Given the description of an element on the screen output the (x, y) to click on. 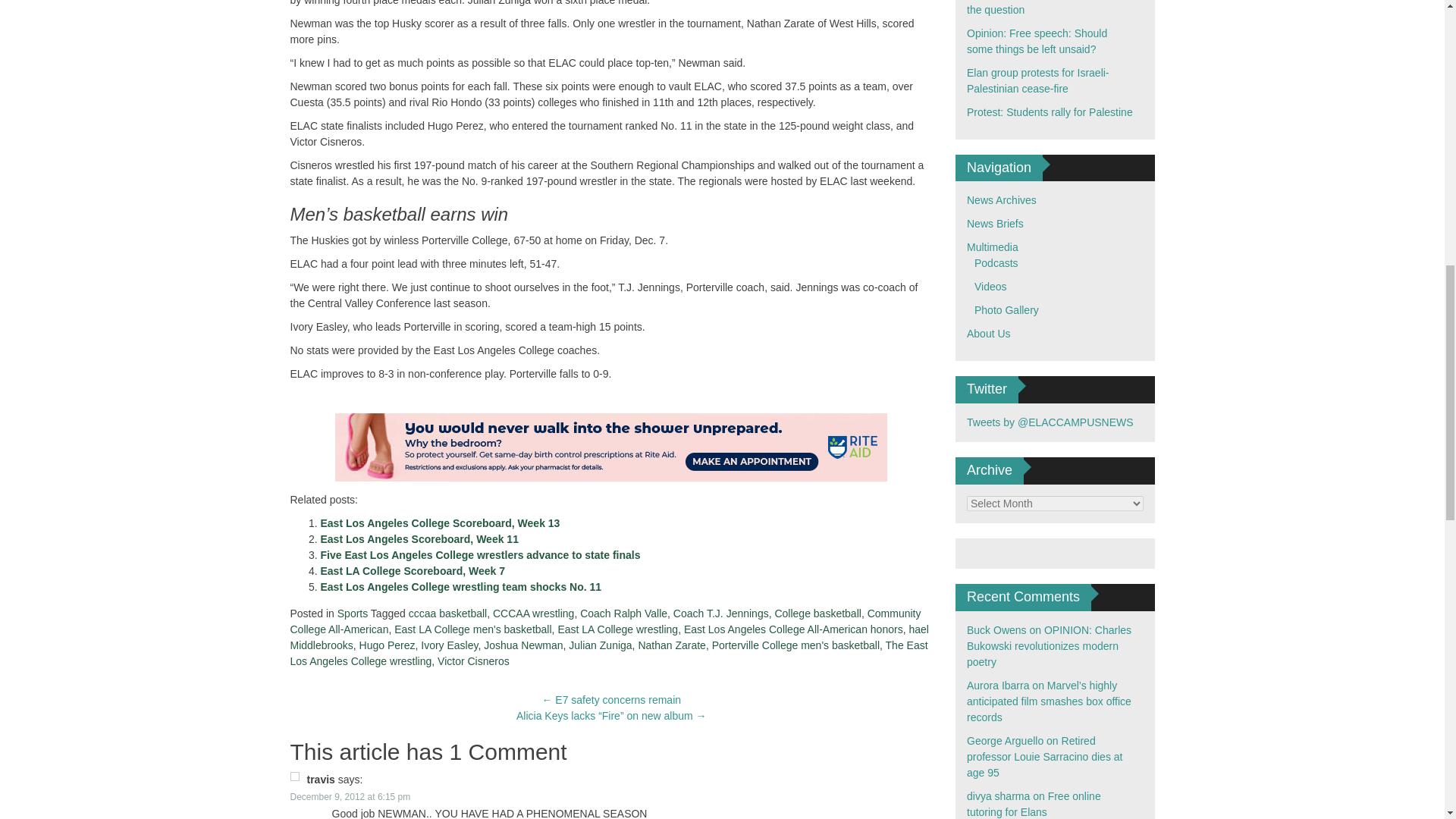
East Los Angeles College Scoreboard, Week 13 (439, 522)
CCCAA wrestling (533, 613)
Community College All-American (604, 621)
Coach Ralph Valle (622, 613)
East Los Angeles College Scoreboard, Week 13 (439, 522)
Sports (352, 613)
cccaa basketball (448, 613)
College basketball (817, 613)
Coach T.J. Jennings (720, 613)
East LA College Scoreboard, Week 7 (412, 571)
East Los Angeles College wrestling team shocks No. 11 (460, 586)
East Los Angeles Scoreboard, Week 11 (419, 539)
East LA College Scoreboard, Week 7 (412, 571)
East Los Angeles Scoreboard, Week 11 (419, 539)
